Given the description of an element on the screen output the (x, y) to click on. 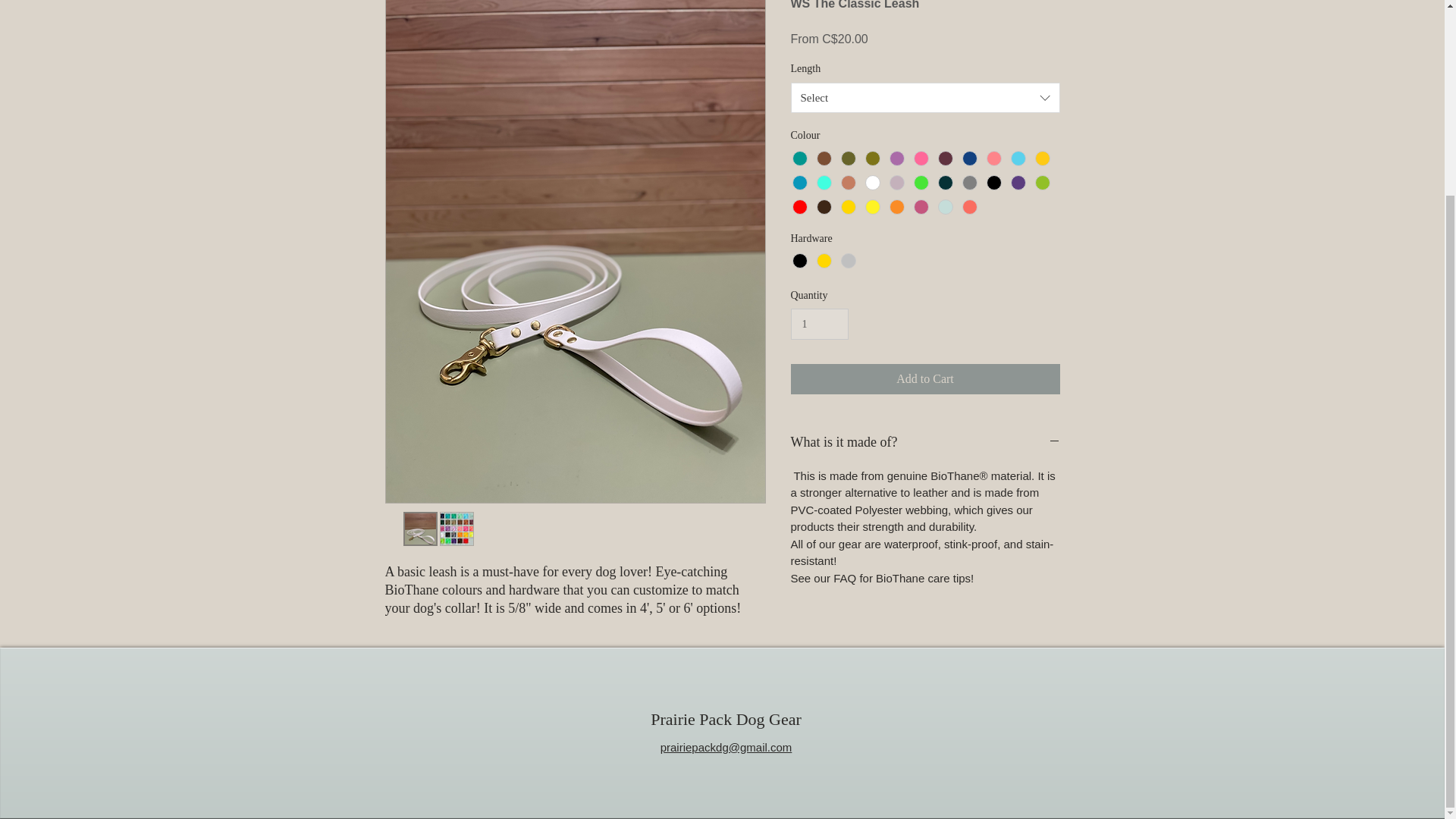
Select (924, 97)
What is it made of? (924, 442)
Add to Cart (924, 378)
